Given the description of an element on the screen output the (x, y) to click on. 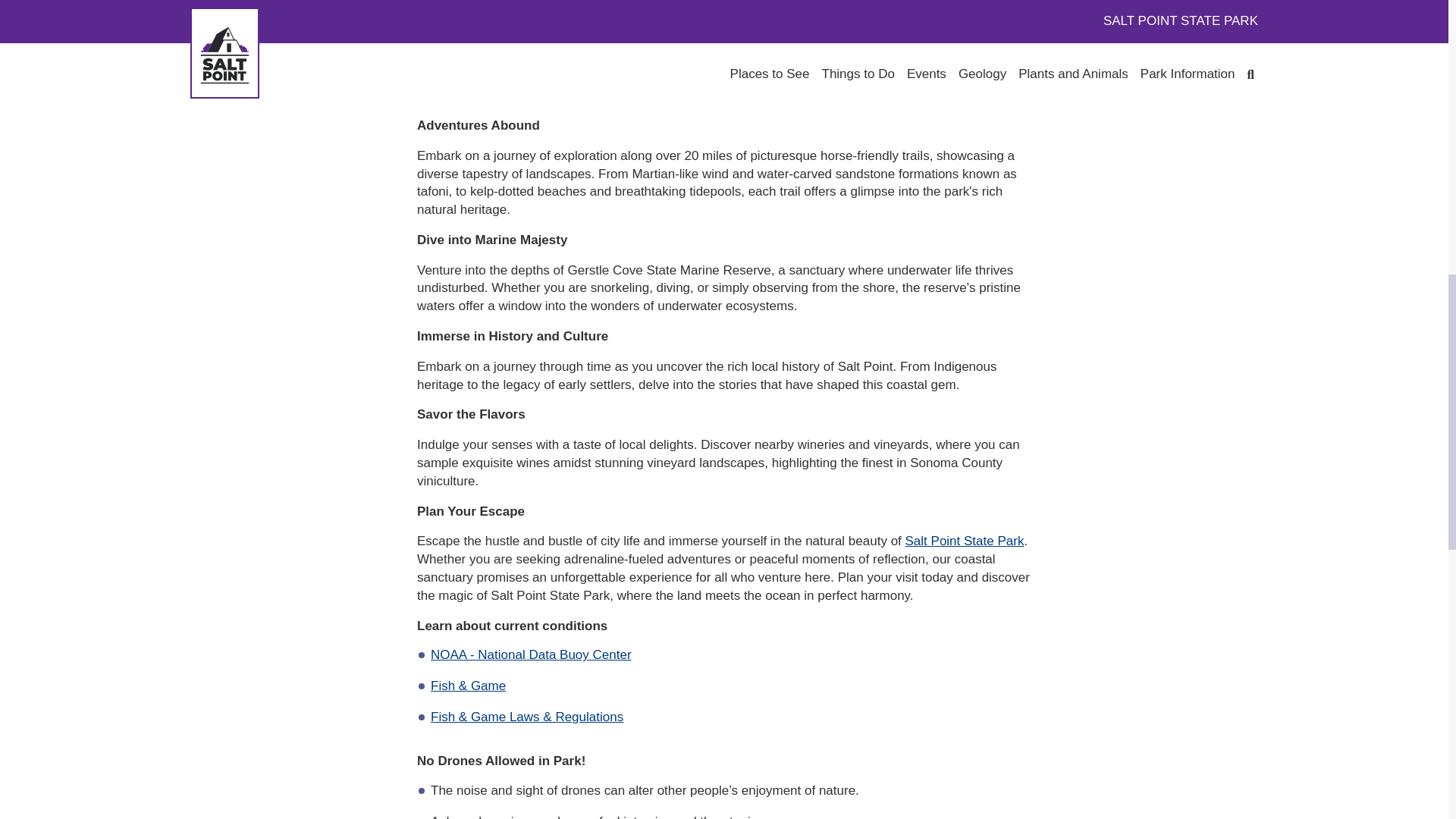
campgrounds (810, 41)
Salt Point State Park (965, 540)
NOAA - National Data Buoy Center (530, 654)
